Given the description of an element on the screen output the (x, y) to click on. 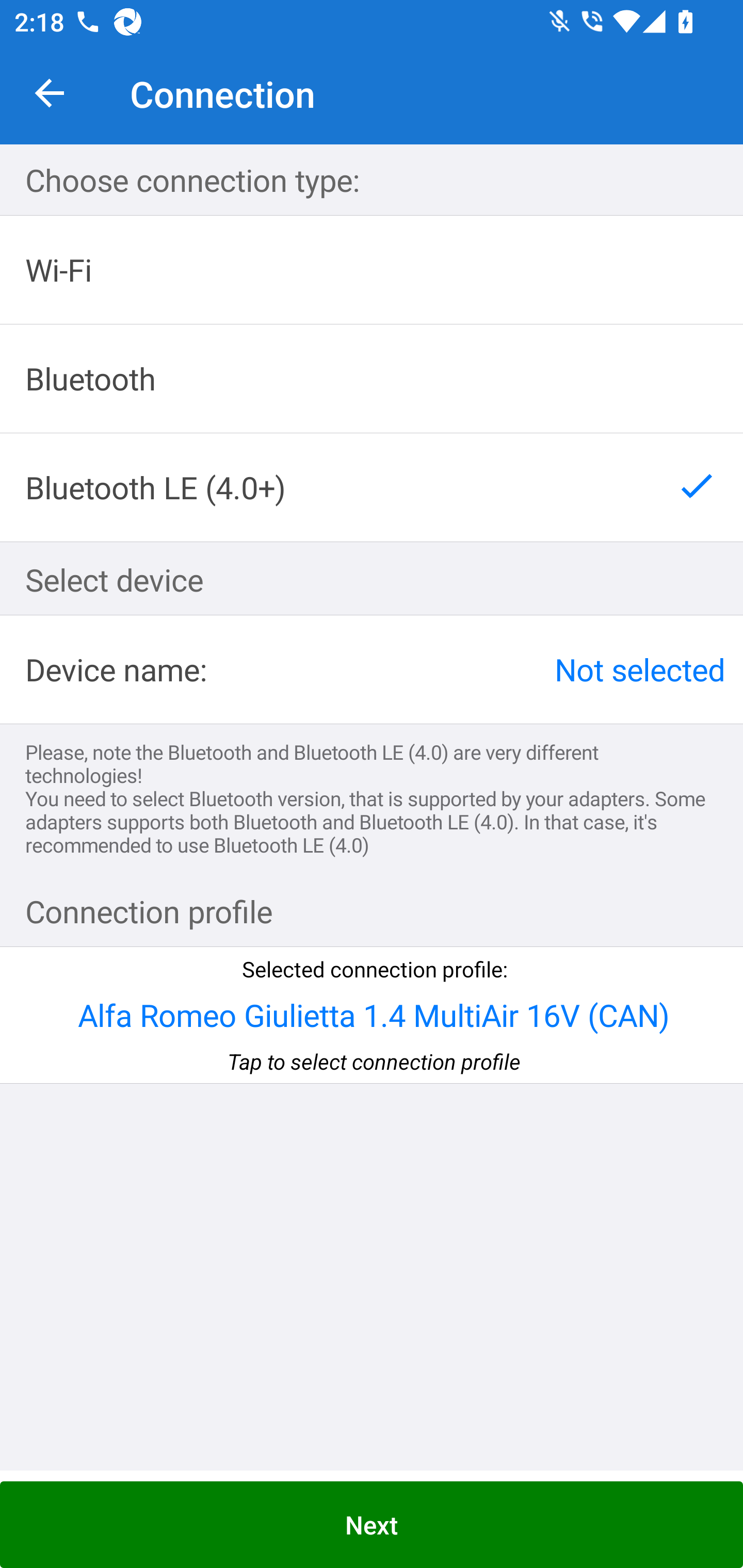
Wi-Fi (371, 270)
Bluetooth (371, 378)
Bluetooth LE (4.0+) (371, 486)
Device name: Not selected (371, 669)
Next (371, 1524)
